Given the description of an element on the screen output the (x, y) to click on. 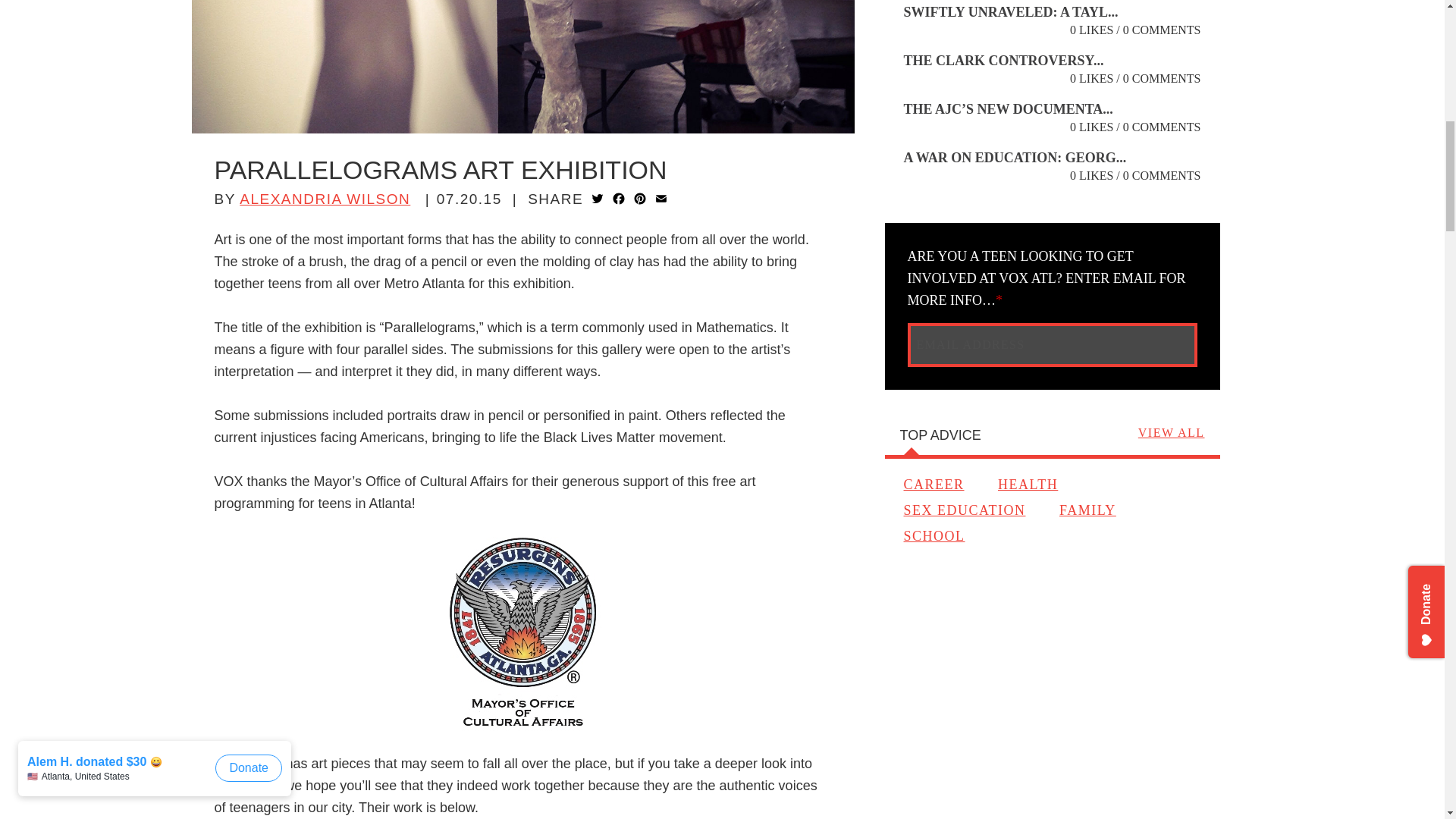
Posts by Alexandria Wilson (325, 198)
Submit (1167, 344)
Email (660, 199)
Twitter (597, 199)
Facebook (618, 199)
Pinterest (639, 199)
